Given the description of an element on the screen output the (x, y) to click on. 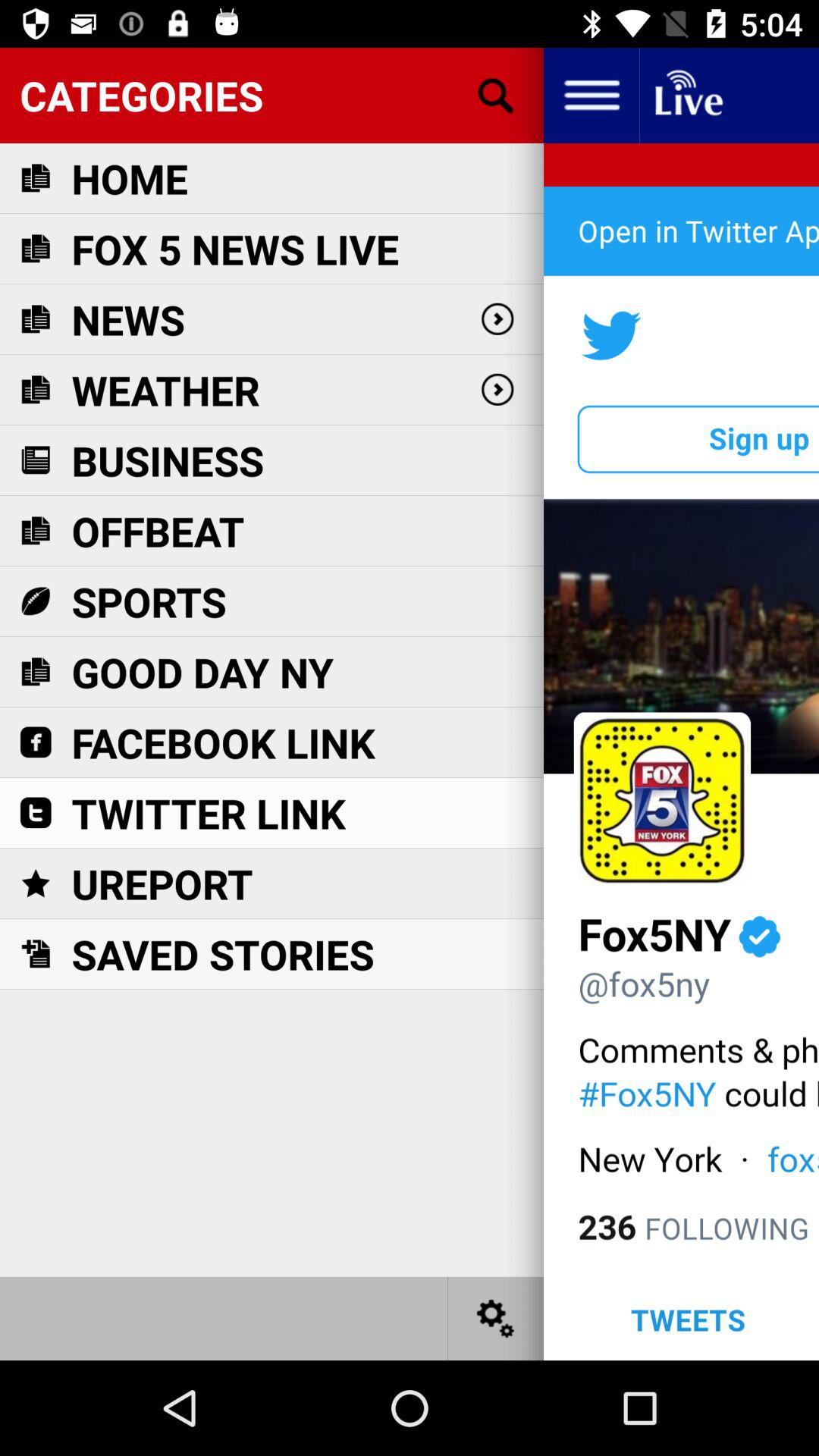
open item below the sports (202, 671)
